Given the description of an element on the screen output the (x, y) to click on. 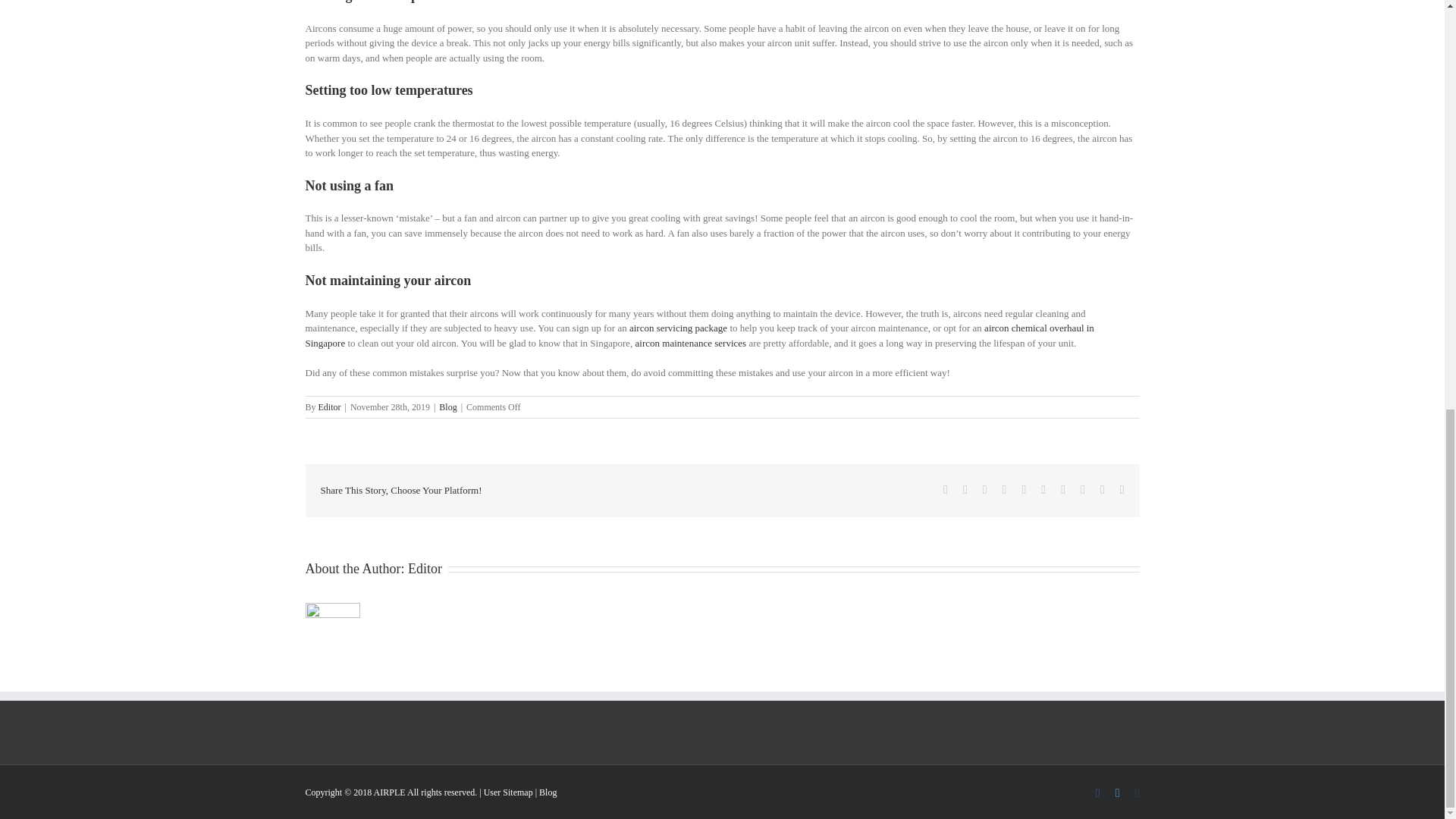
Singapore Aircon Maintenance Services (690, 342)
Singapore Aircon Servicing Package, Aircon Servicing Package (677, 327)
Posts by Editor (329, 407)
